Given the description of an element on the screen output the (x, y) to click on. 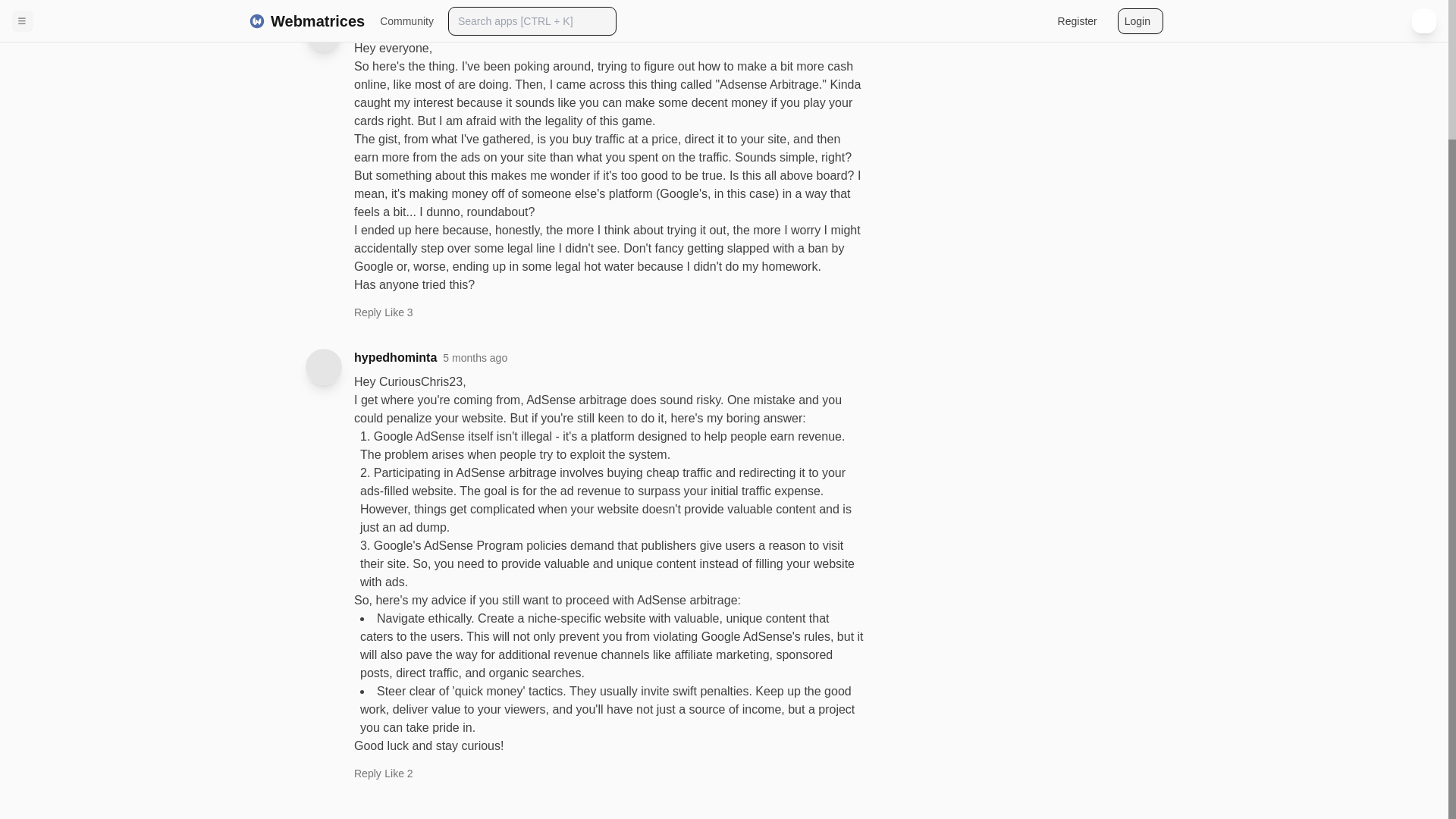
Friday, February 23, 2024 11:12 PM (486, 23)
Liked by codie 5 months ago (398, 773)
5 months ago (474, 357)
Liked by codie 5 months ago (398, 312)
Like 3 (398, 312)
Friday, February 23, 2024 11:25 PM (474, 357)
Reply (367, 776)
Like 2 (398, 773)
5 months ago (486, 23)
hypedhominta (394, 357)
digitaldoubter89 (400, 24)
Reply (367, 315)
